Given the description of an element on the screen output the (x, y) to click on. 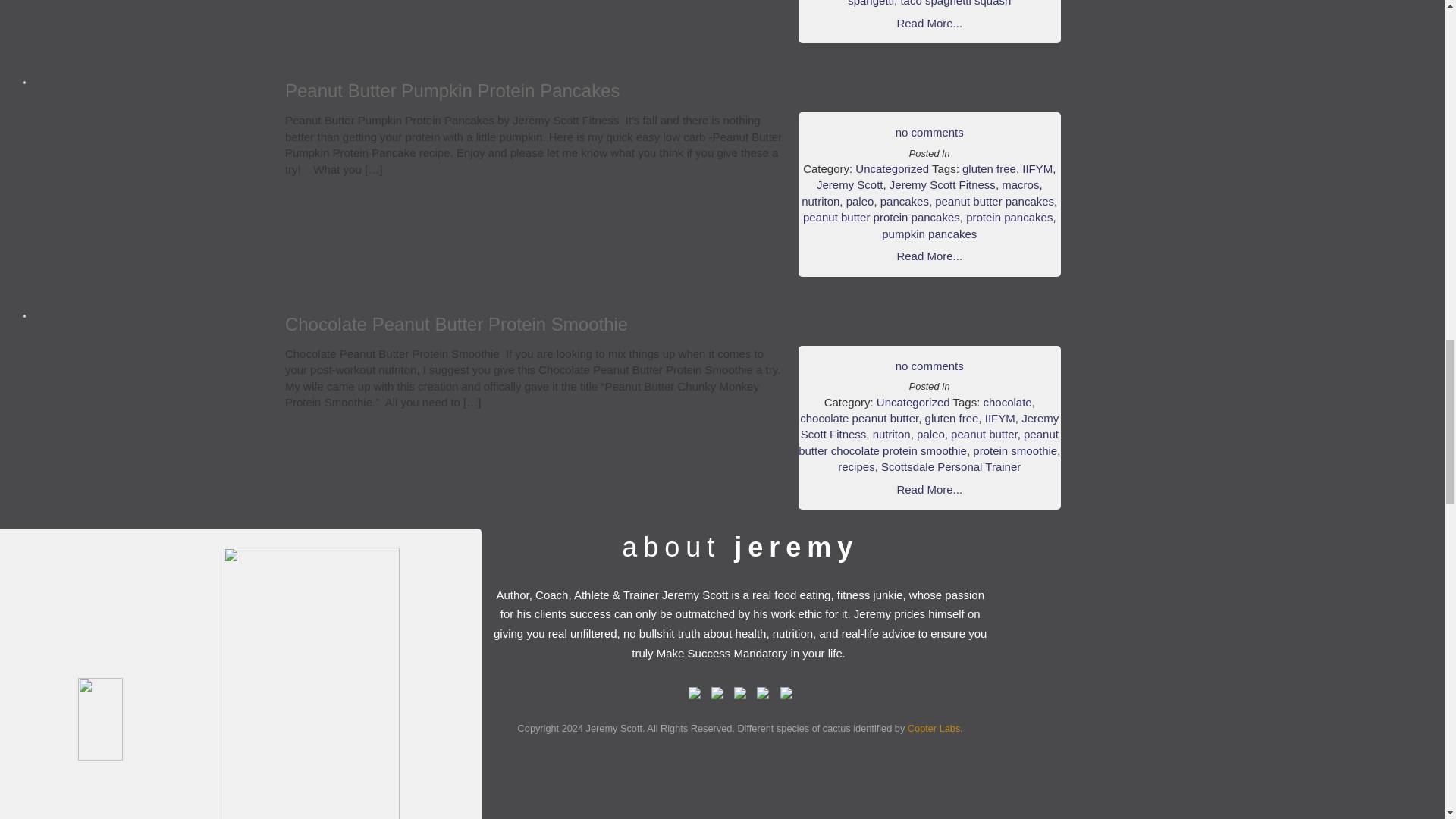
Permalink to Chocolate Peanut Butter Protein Smoothie (456, 323)
Marketing, design, and devleopment in Portland, OR (933, 727)
Permalink to Peanut Butter Pumpkin Protein Pancakes (452, 90)
